Given the description of an element on the screen output the (x, y) to click on. 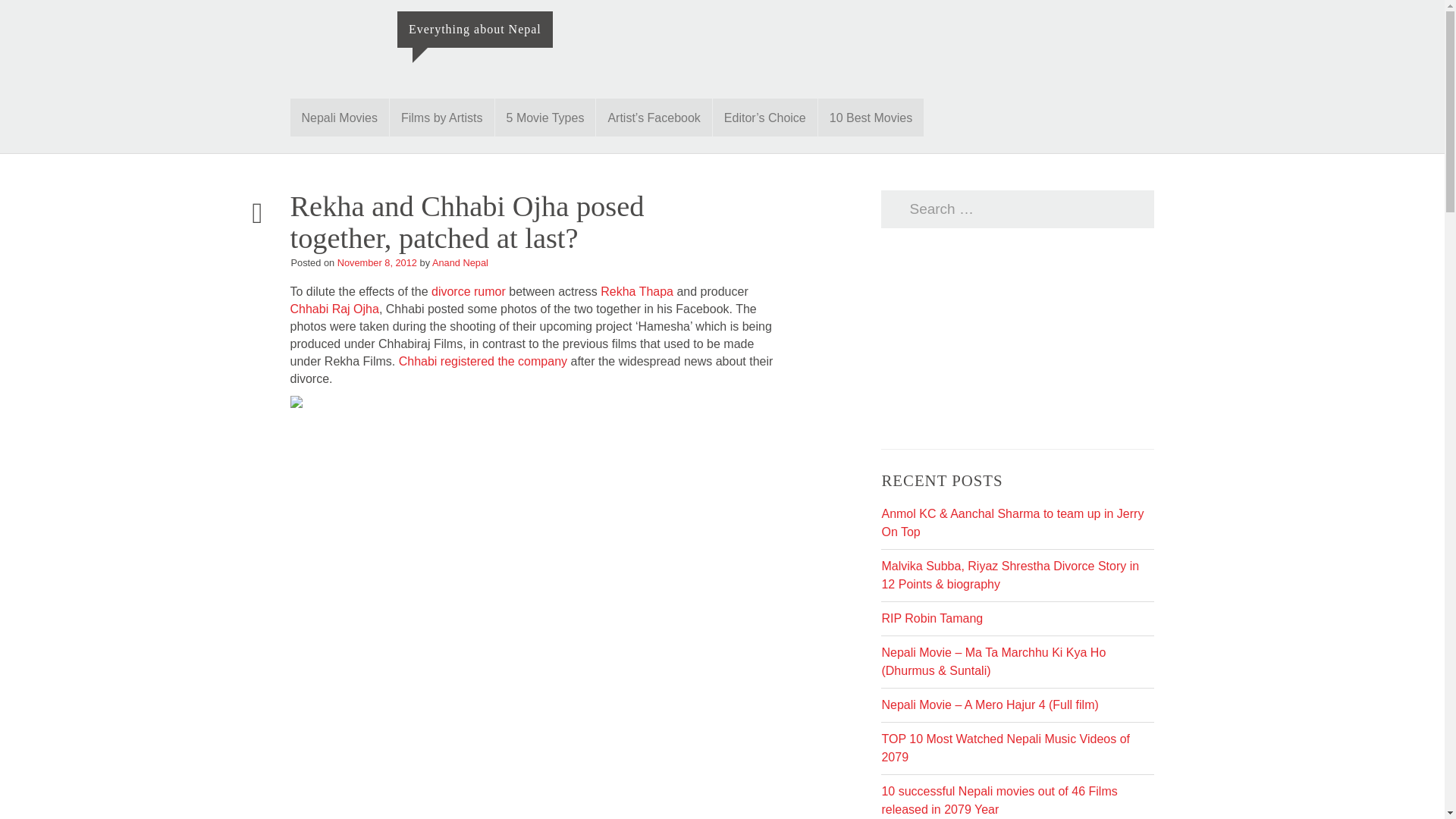
Chhabi registered the company (482, 360)
Nepali Movies (338, 117)
Nepali Movies (338, 117)
5 Movie Types (545, 117)
5 Movie Types (545, 117)
10 Best Movies (870, 117)
Chhabi Raj Ojha (333, 308)
Anand Nepal (459, 262)
10 Best Movies (870, 117)
November 8, 2012 (376, 262)
